Given the description of an element on the screen output the (x, y) to click on. 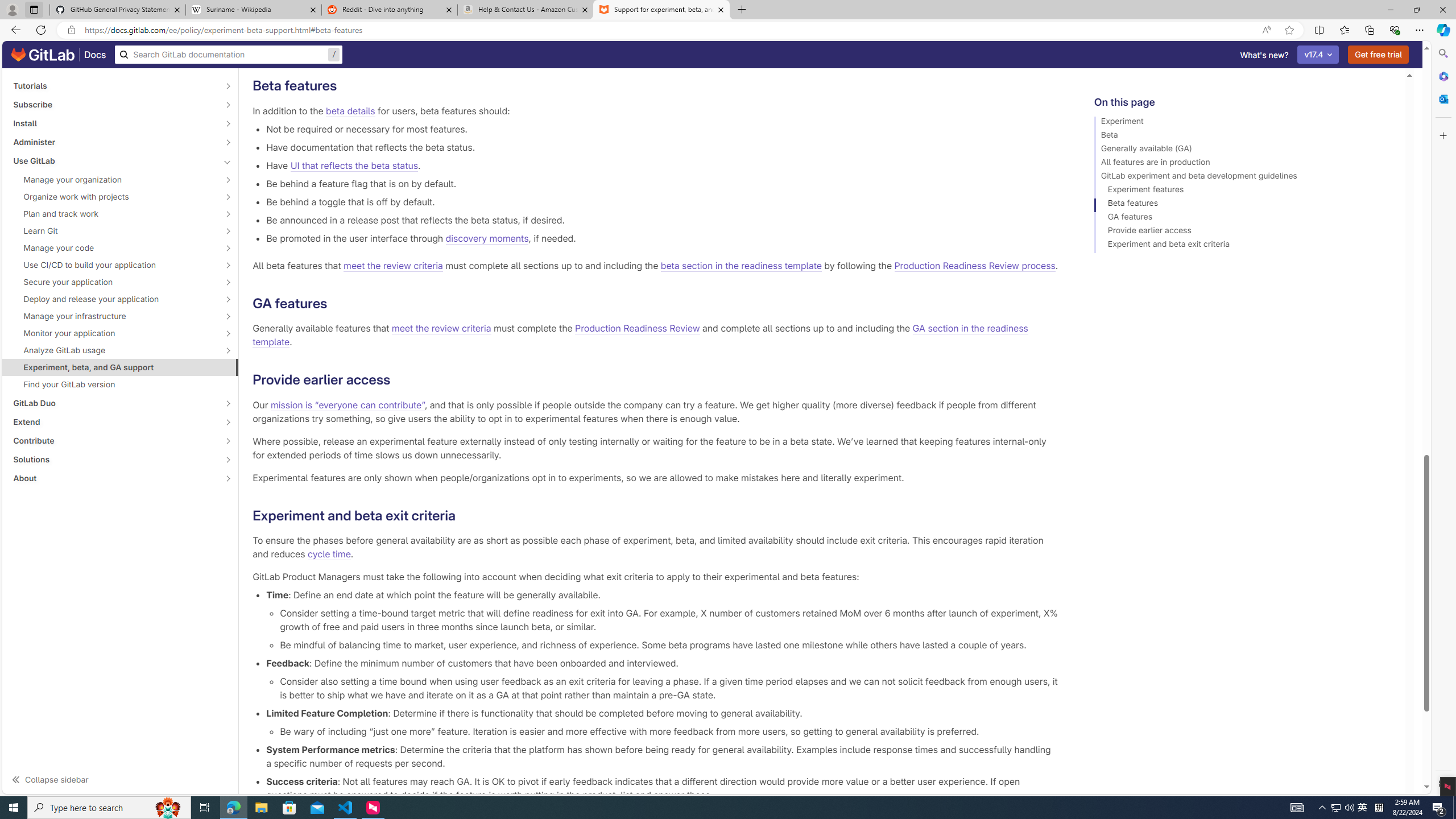
GA features (1244, 218)
meet the review criteria (441, 328)
Plan and track work (113, 213)
discovery moments (486, 237)
GitLab Duo (113, 402)
Production Readiness Review process (974, 265)
